Given the description of an element on the screen output the (x, y) to click on. 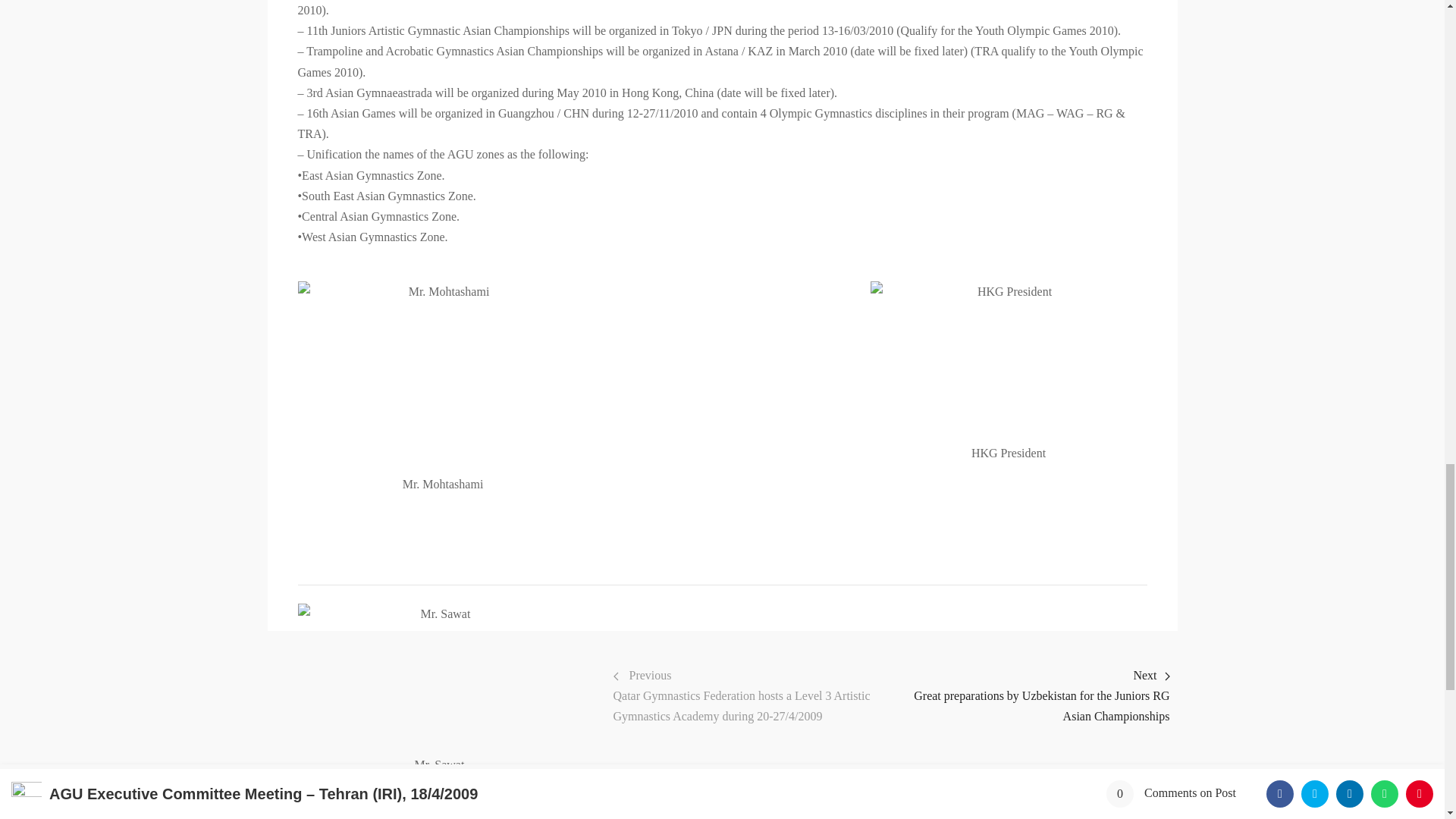
Mr. Mohtashami (442, 377)
Mr. Sawat (438, 678)
HKG President (1008, 362)
